Given the description of an element on the screen output the (x, y) to click on. 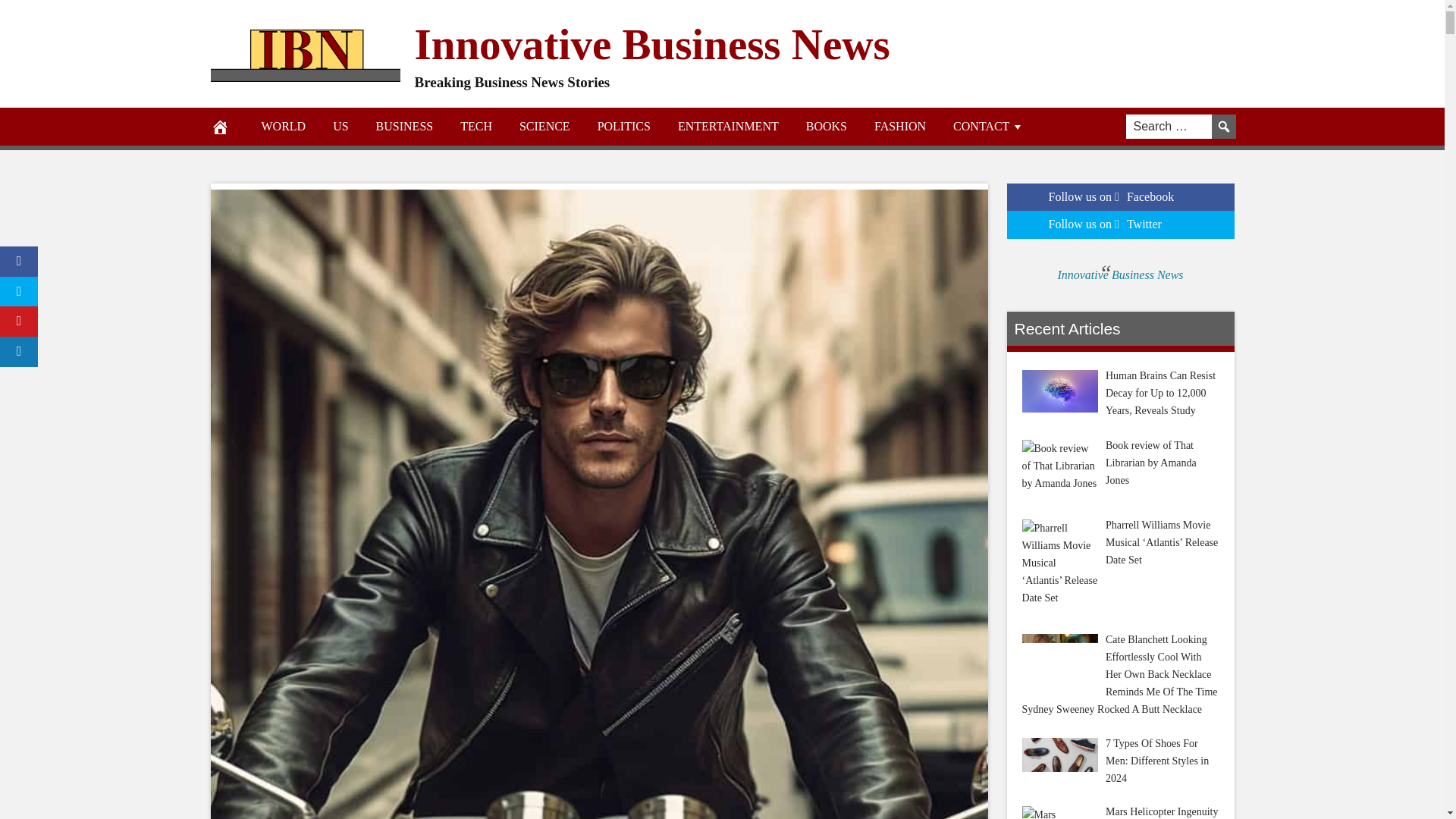
7 Types Of Shoes For Men: Different Styles in 2024 (1059, 754)
POLITICS (623, 126)
CONTACT (988, 126)
BUSINESS (404, 126)
TECH (475, 126)
Innovative Business News (651, 43)
BOOKS (826, 126)
